Given the description of an element on the screen output the (x, y) to click on. 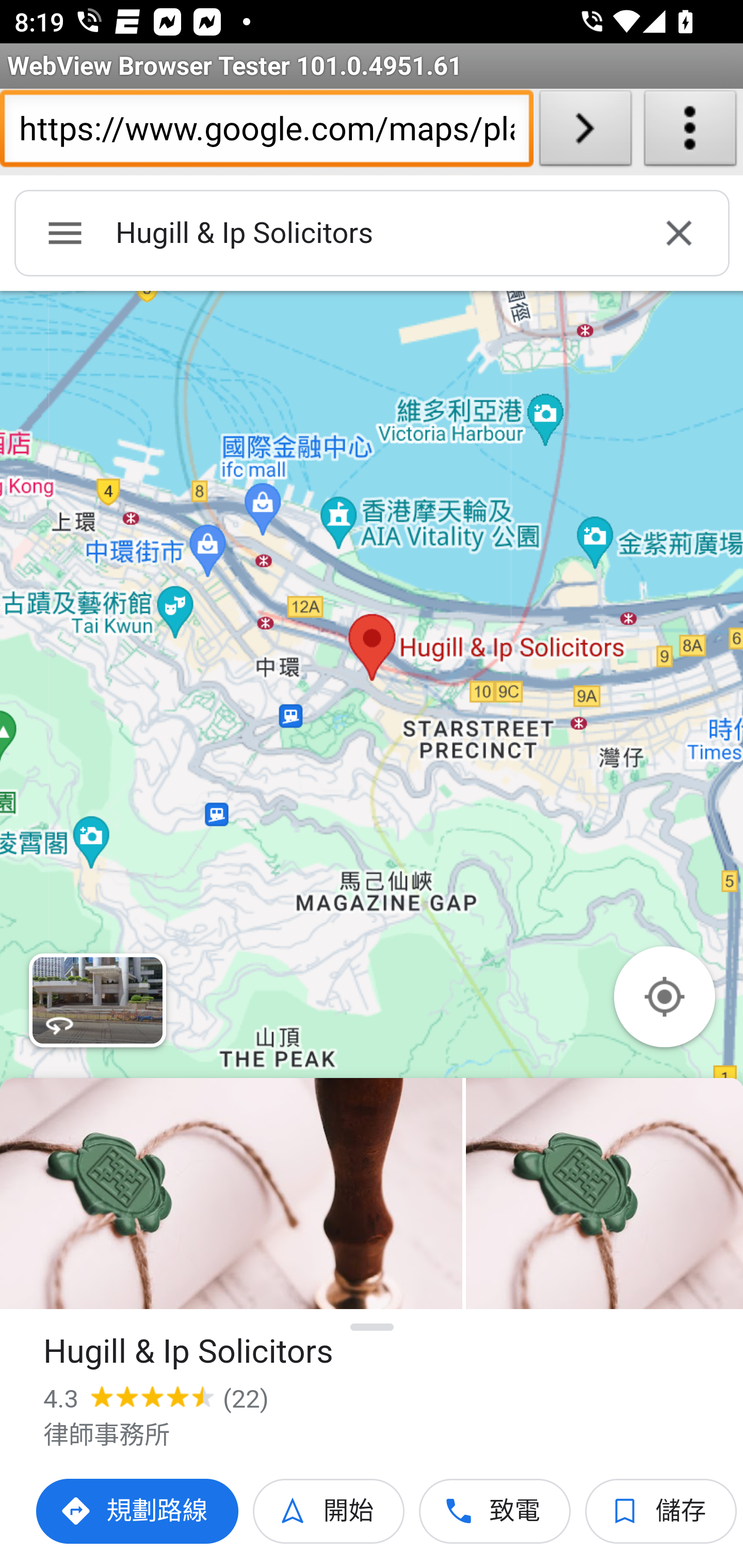
Load URL (585, 132)
About WebView (690, 132)
第 1 張相片 (共 10 張) (231, 1193)
第 2 張相片 (共 10 張) (604, 1193)
顯示詳細資料 (372, 1327)
前往Hugill & Ip Solicitors的路線 (137, 1511)
開始 (329, 1511)
致電「Hugill & Ip Solicitors」  致電 (495, 1511)
將「Hugill & Ip Solicitors」儲存至清單中 (661, 1511)
